Given the description of an element on the screen output the (x, y) to click on. 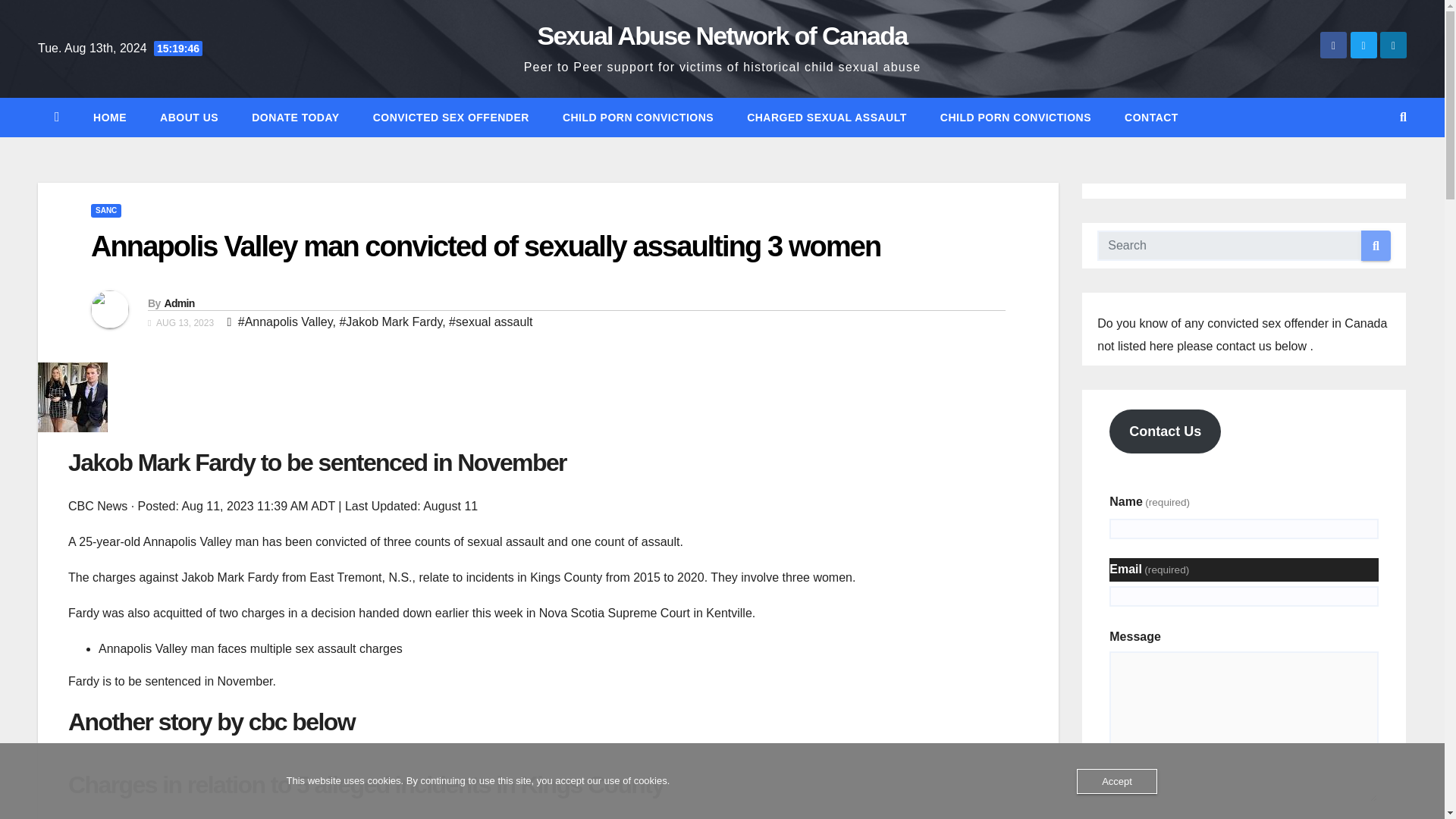
ABOUT US (188, 117)
SANC (105, 210)
DONATE TODAY (294, 117)
Home (109, 117)
CONTACT (1151, 117)
CHARGED sexual assault (826, 117)
CHARGED SEXUAL ASSAULT (826, 117)
Child Porn Convictions (1015, 117)
CHILD PORN CONVICTIONS (638, 117)
